Given the description of an element on the screen output the (x, y) to click on. 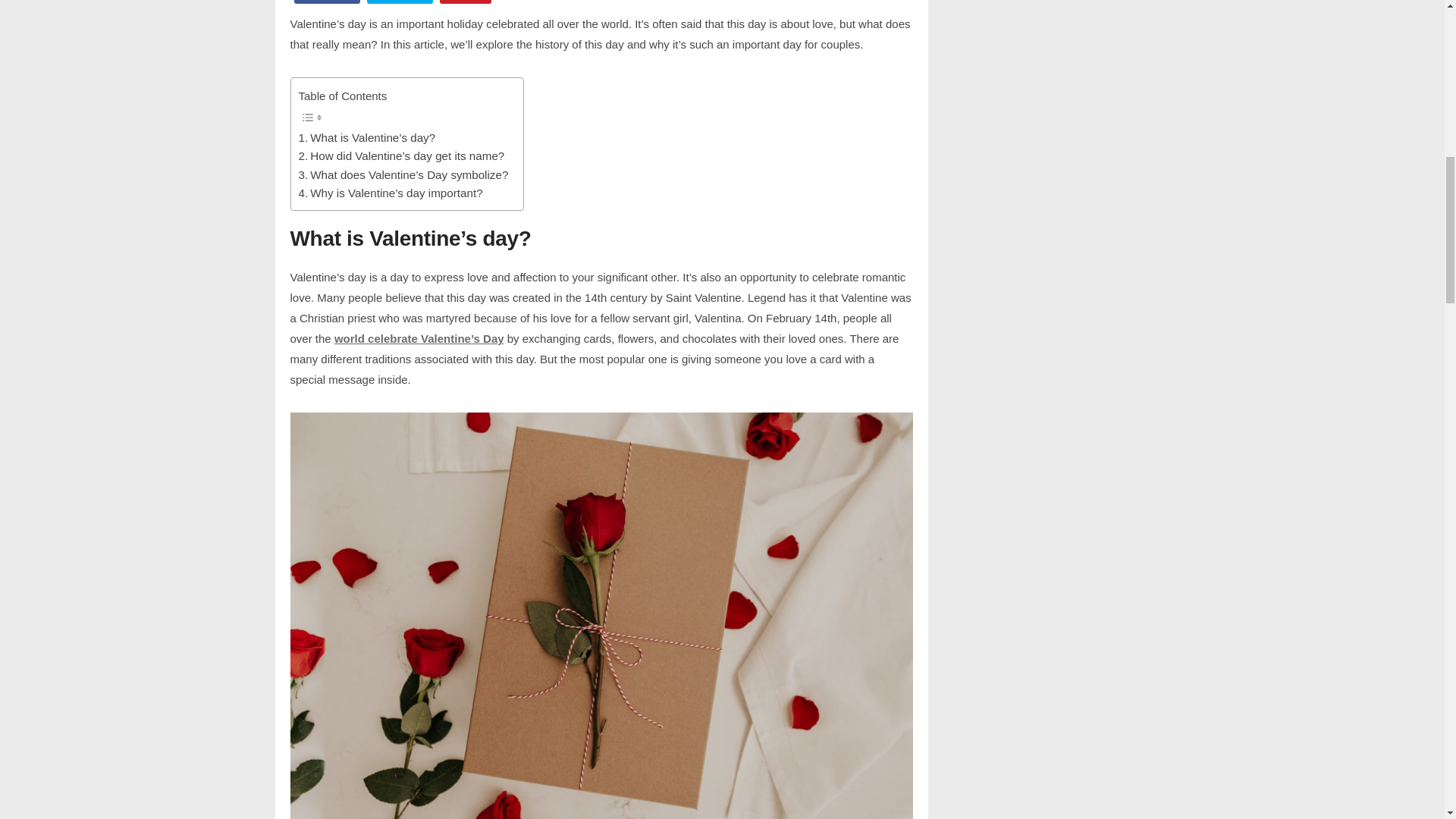
Tweet (400, 4)
Share on Facebook (328, 4)
Pin (467, 4)
